Given the description of an element on the screen output the (x, y) to click on. 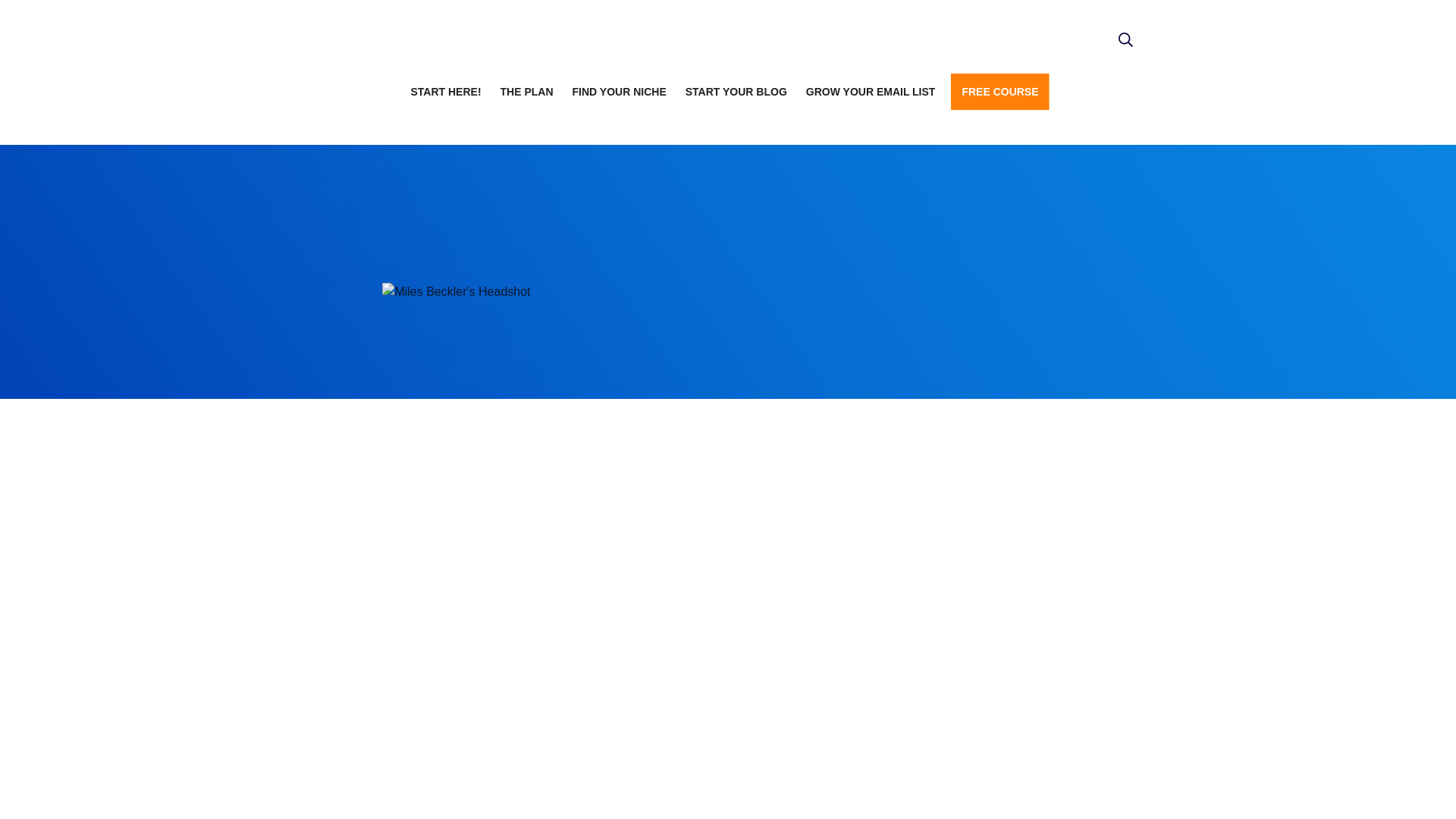
FREE COURSE (999, 91)
START YOUR BLOG (736, 91)
Miles Beckler's Headshot (456, 292)
FIND YOUR NICHE (619, 91)
THE PLAN (526, 91)
START HERE! (445, 91)
GROW YOUR EMAIL LIST (871, 91)
